Given the description of an element on the screen output the (x, y) to click on. 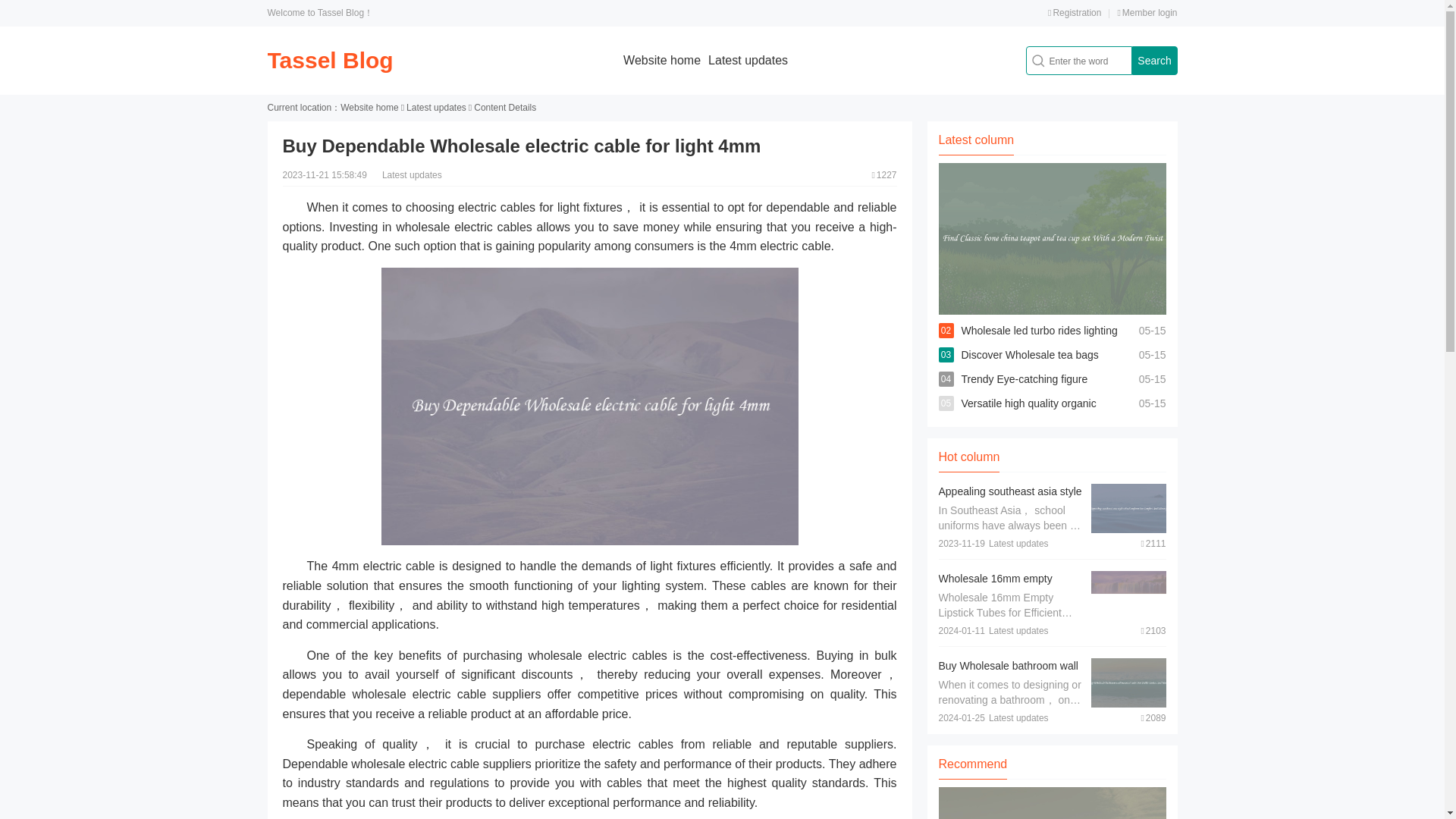
Website home (661, 60)
Latest updates (435, 107)
Search (1153, 60)
Tassel Blog (329, 59)
Website home (368, 107)
Member login (1146, 12)
Registration (1074, 12)
